Given the description of an element on the screen output the (x, y) to click on. 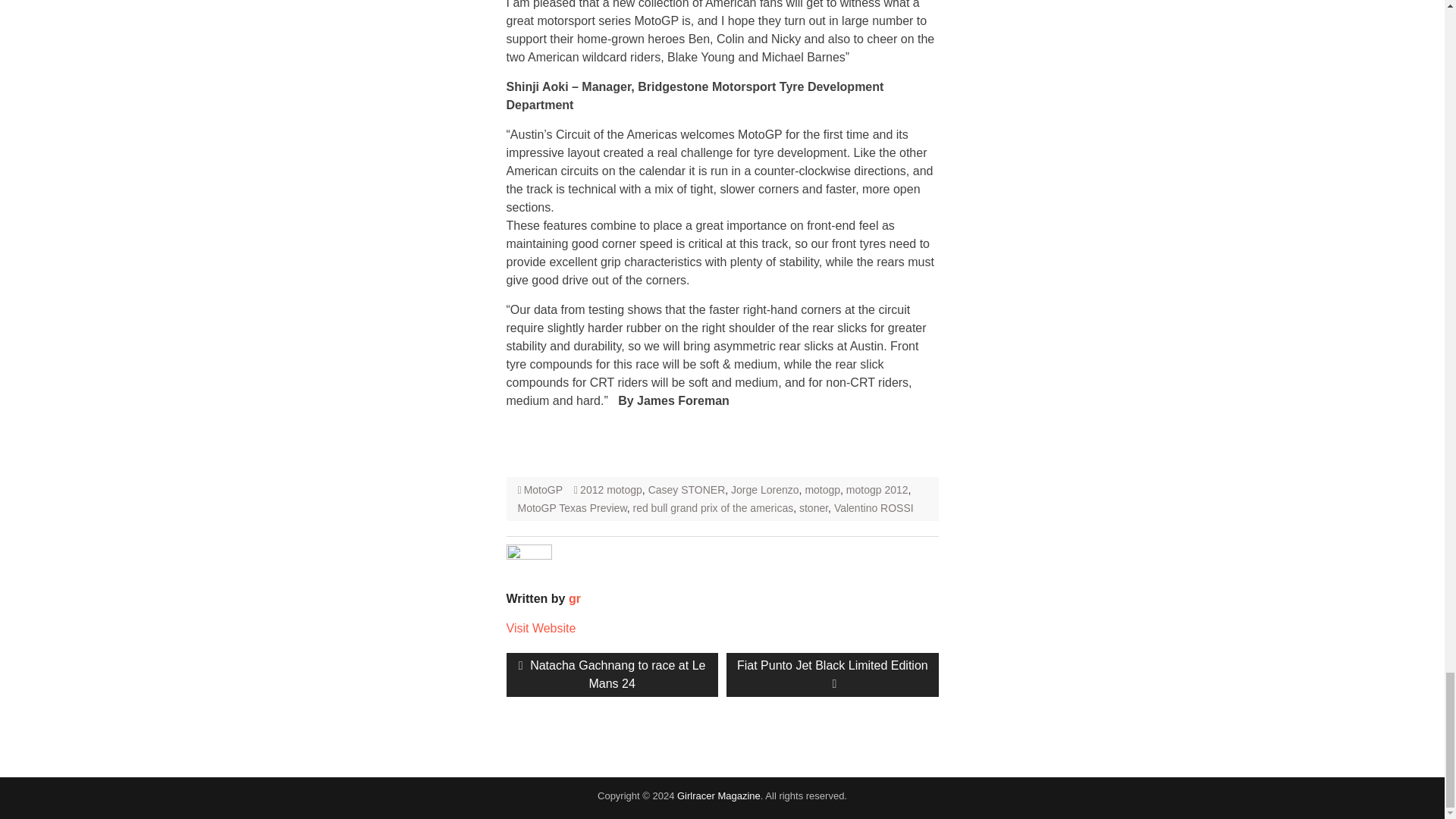
MotoGP (543, 490)
motogp (822, 490)
2012 motogp (610, 490)
stoner (813, 508)
Casey STONER (611, 674)
red bull grand prix of the americas (686, 490)
Jorge Lorenzo (712, 508)
Valentino ROSSI (764, 490)
gr (874, 508)
